Given the description of an element on the screen output the (x, y) to click on. 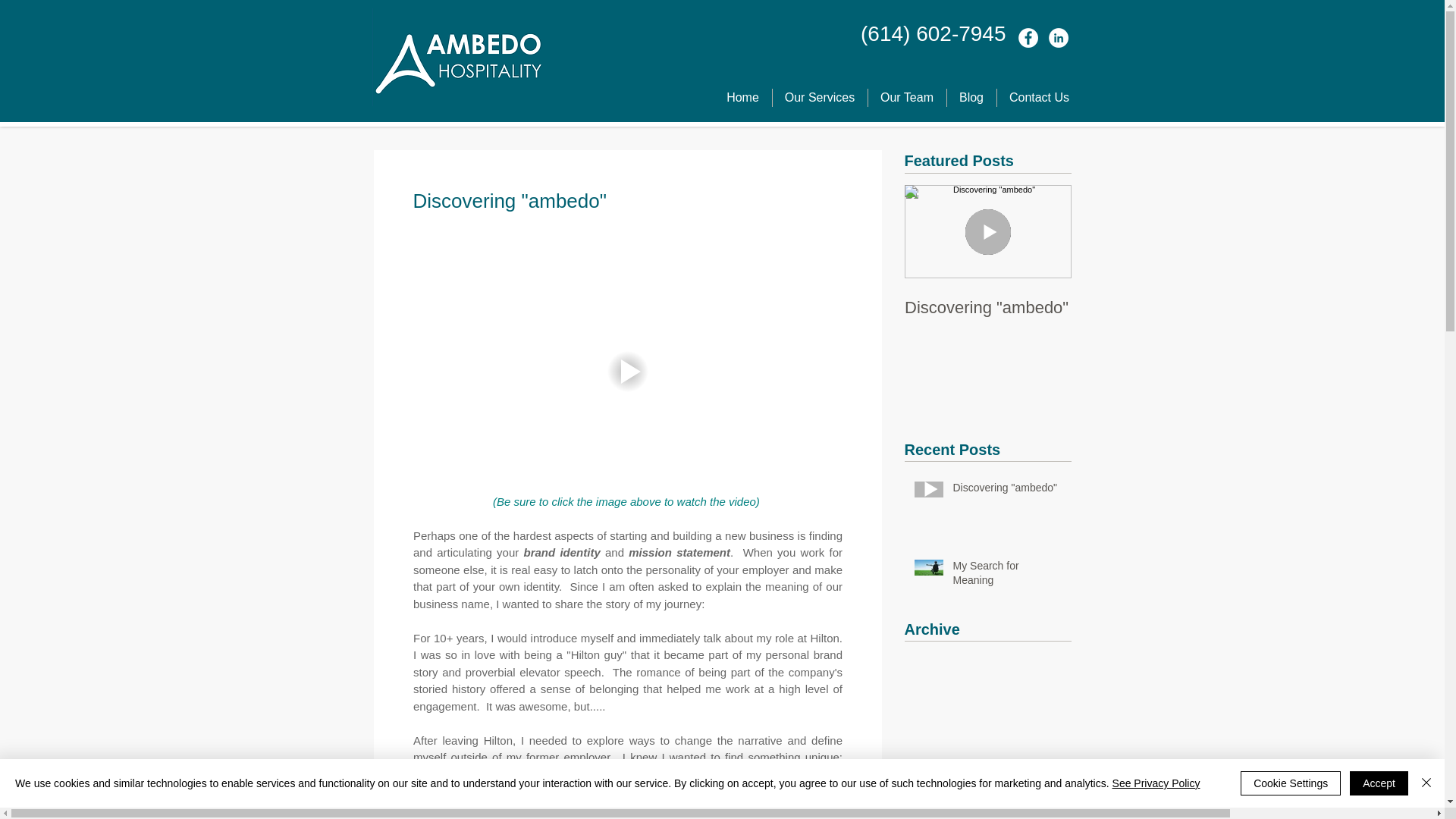
Privacy Policy (405, 796)
Discovering "ambedo" (1006, 491)
Home (742, 97)
Contact Us (1038, 97)
Dictionary of Obscure Sorrows (561, 790)
Discovering "ambedo" (987, 307)
See Privacy Policy (1155, 783)
Our Services (818, 97)
Blog (970, 97)
Our Team (905, 97)
